Given the description of an element on the screen output the (x, y) to click on. 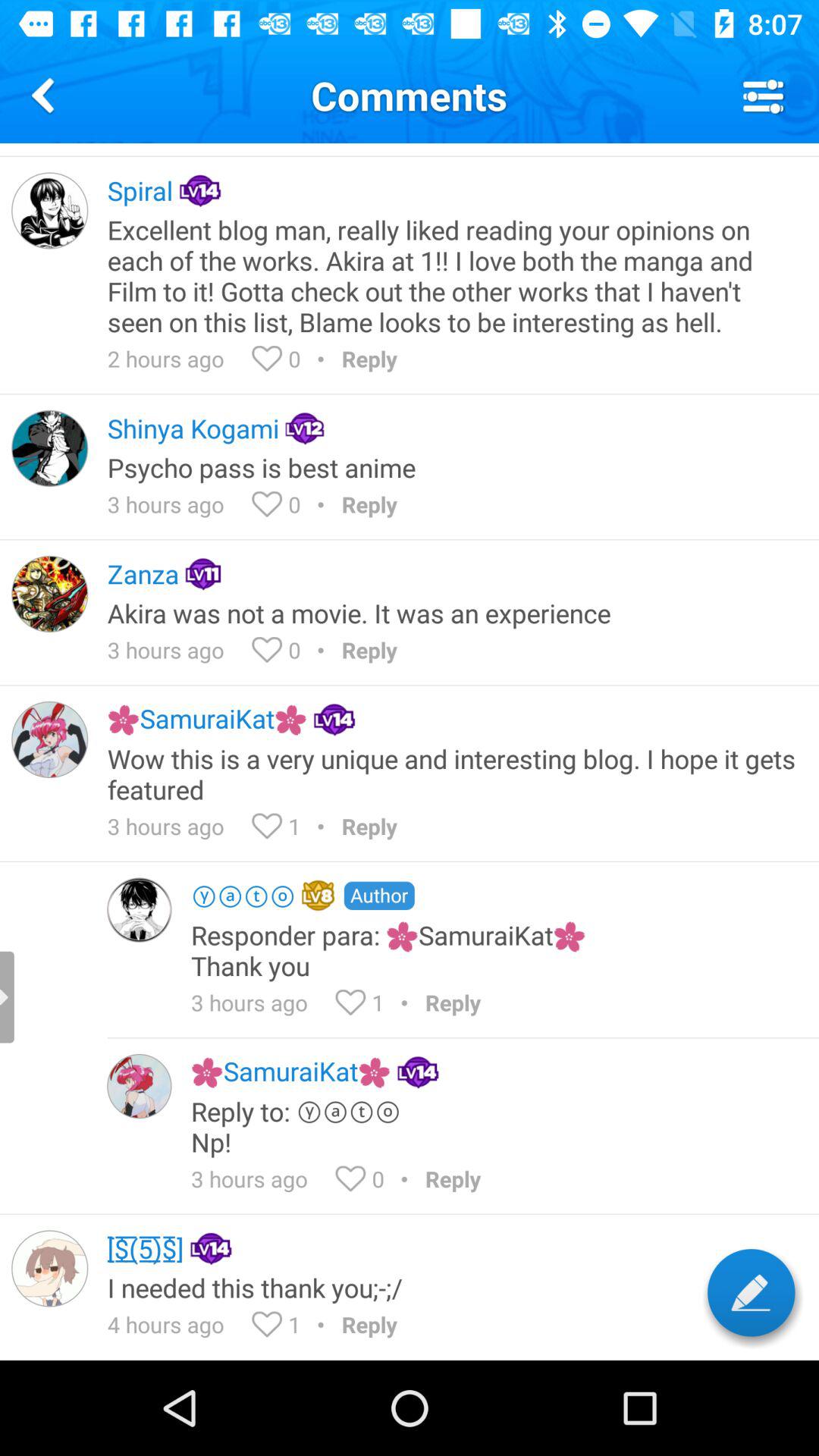
flip until wow this is icon (453, 774)
